Given the description of an element on the screen output the (x, y) to click on. 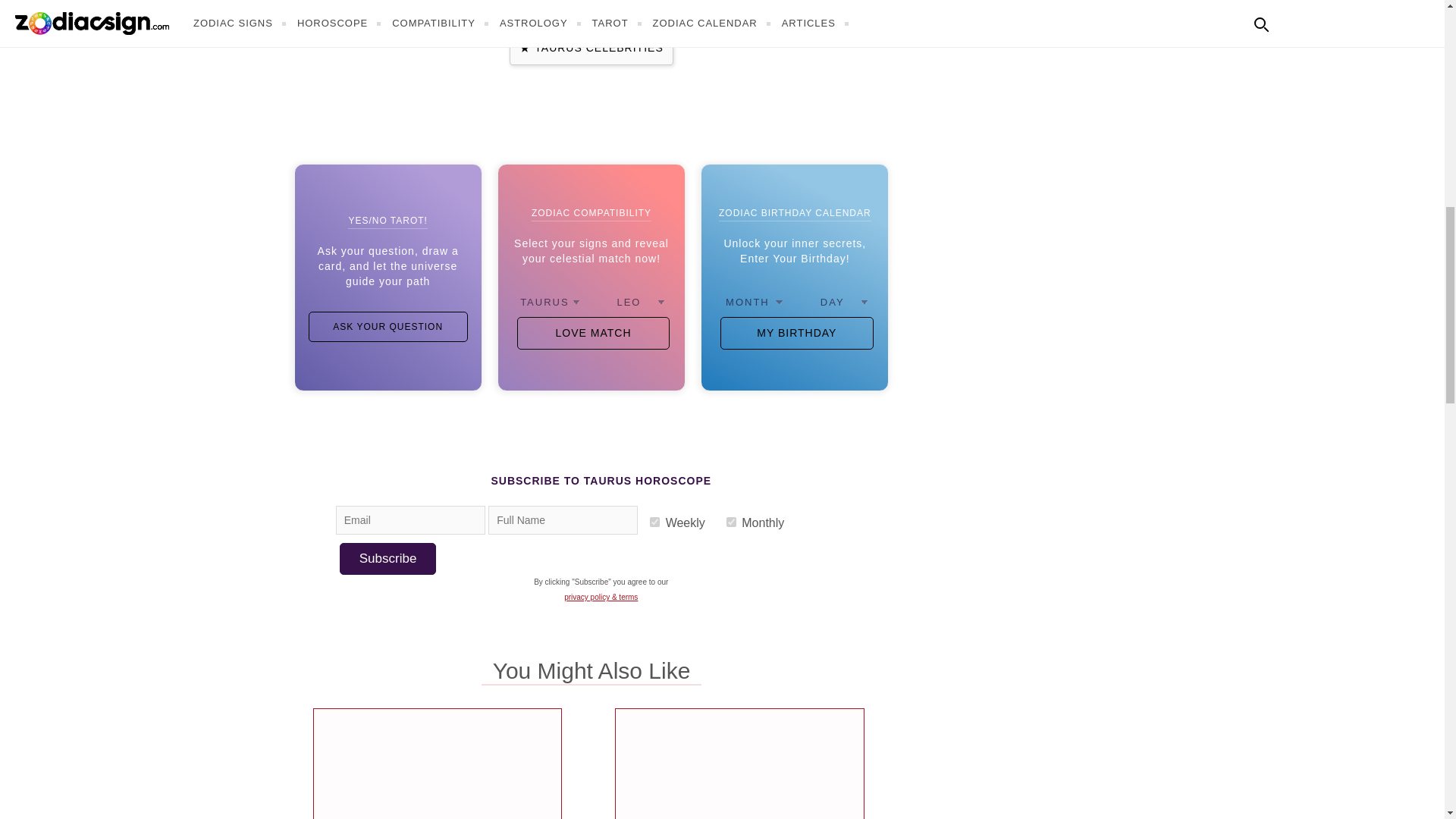
weekly (654, 521)
monthly (731, 521)
